Given the description of an element on the screen output the (x, y) to click on. 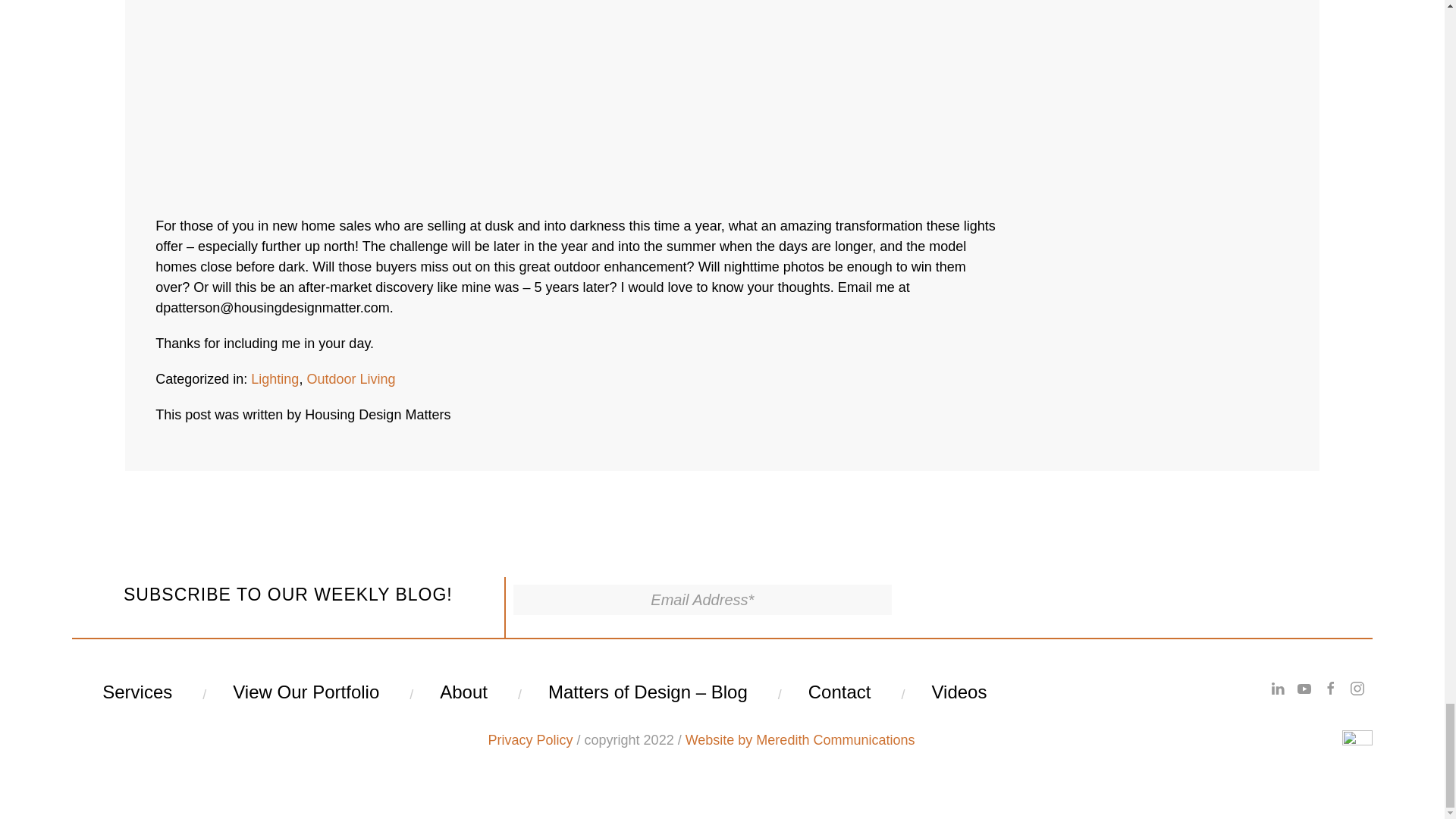
Outdoor Living (349, 378)
Lighting (274, 378)
